Given the description of an element on the screen output the (x, y) to click on. 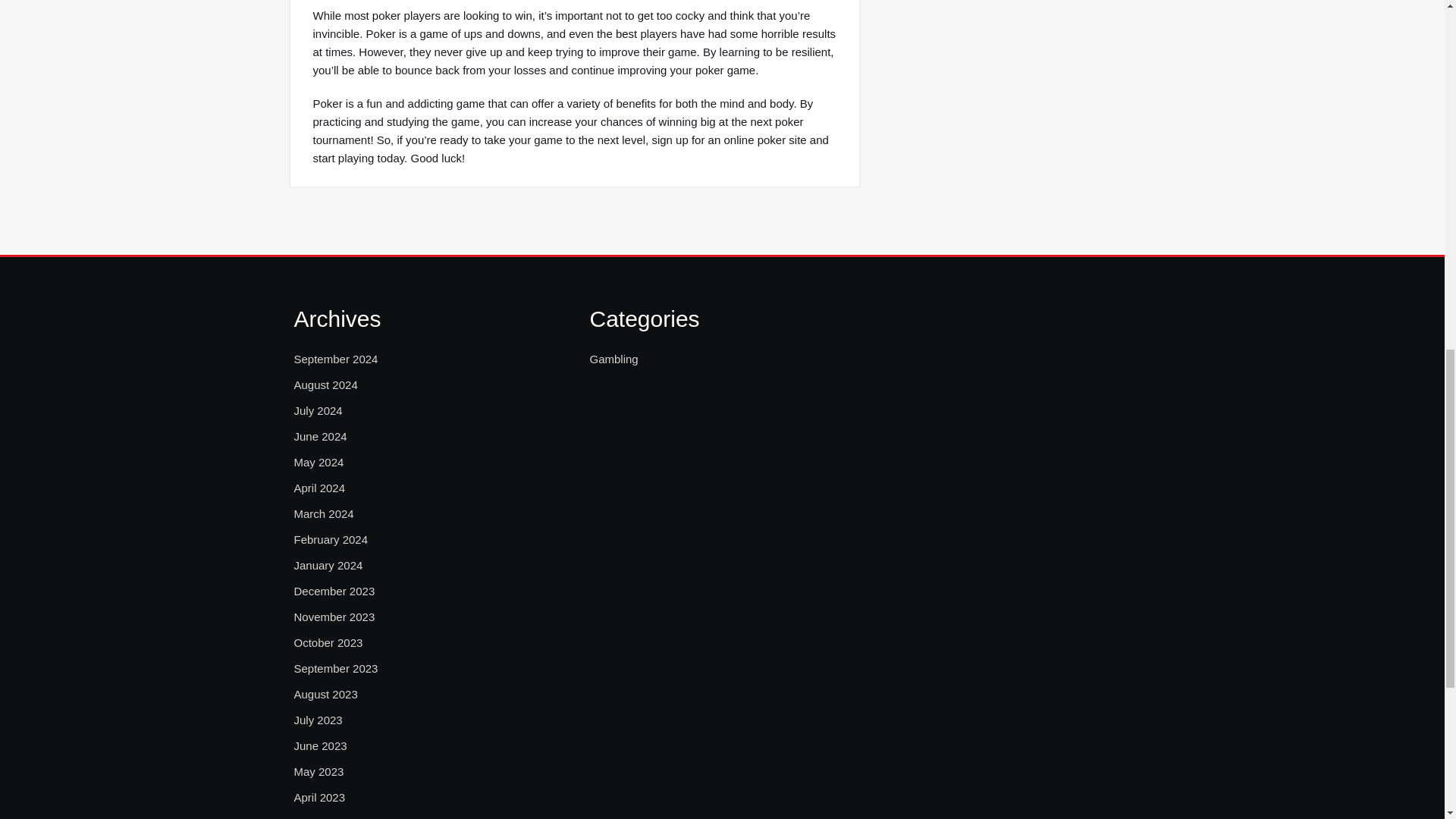
April 2024 (320, 488)
August 2023 (326, 694)
July 2023 (318, 720)
June 2024 (320, 436)
July 2024 (318, 411)
December 2023 (334, 591)
November 2023 (334, 617)
March 2024 (323, 514)
February 2024 (331, 539)
August 2024 (326, 384)
